Given the description of an element on the screen output the (x, y) to click on. 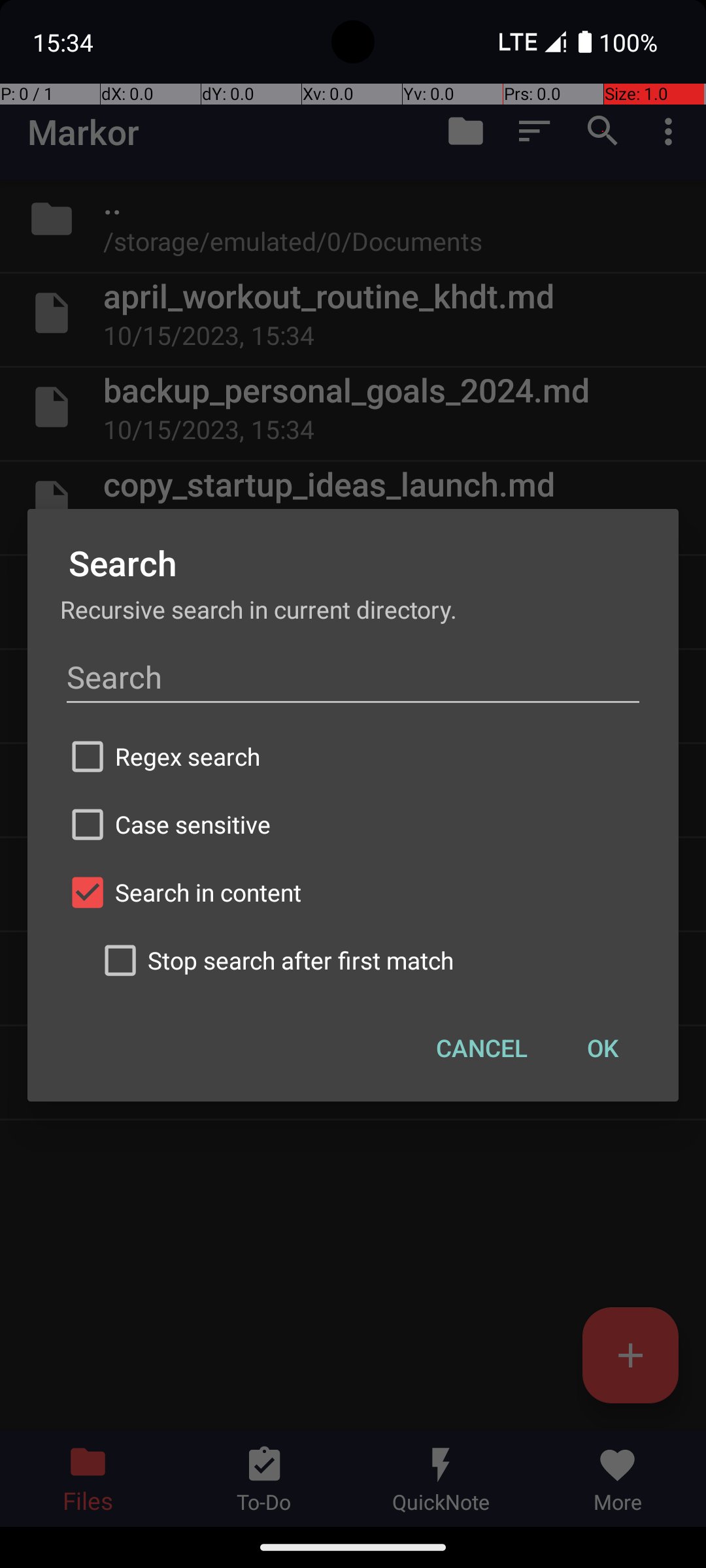
Stop search after first match Element type: android.widget.CheckBox (368, 959)
